Given the description of an element on the screen output the (x, y) to click on. 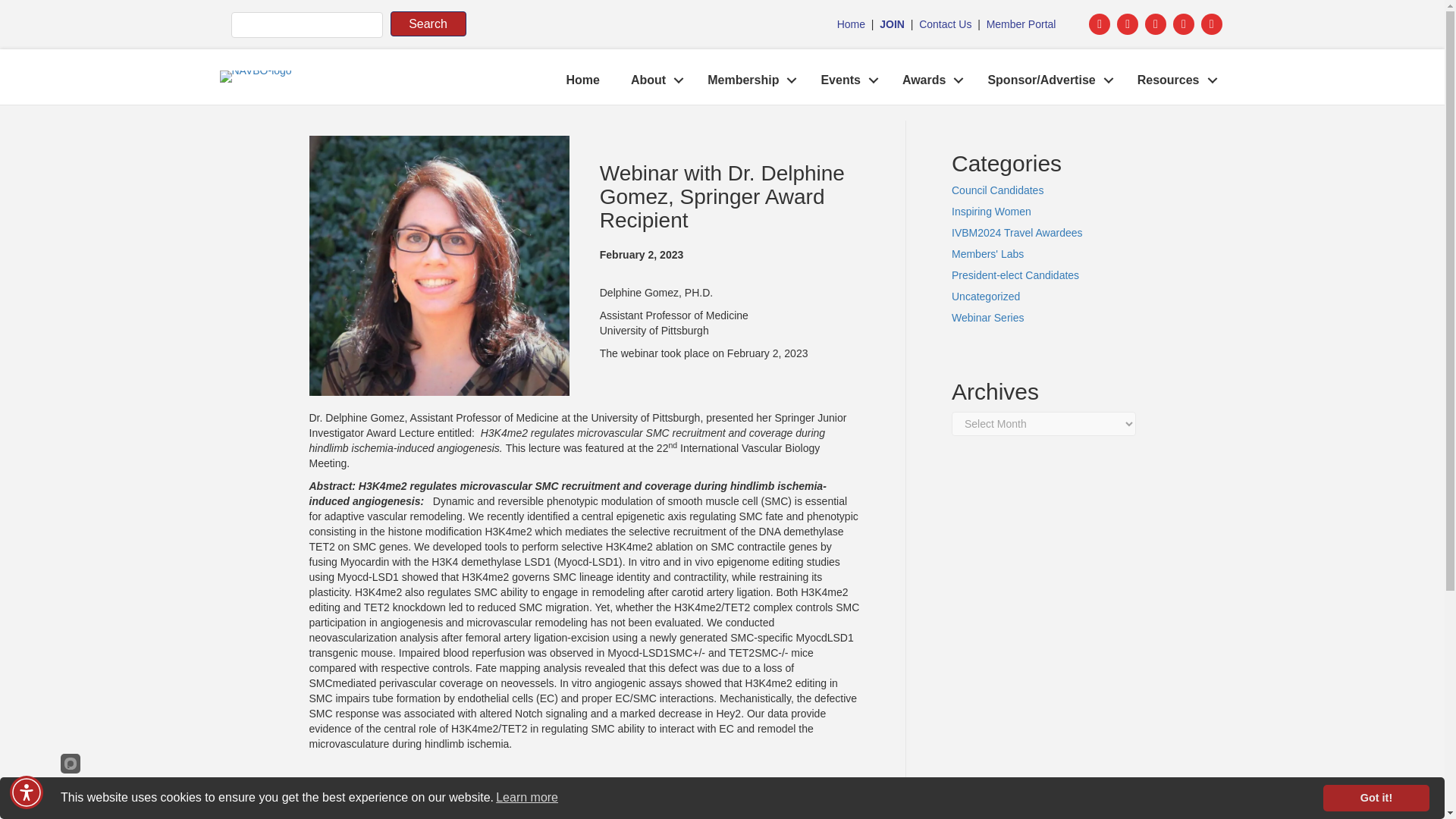
JOIN (891, 24)
Gomez (438, 265)
NAVBO-logo (255, 76)
Search (427, 23)
Accessibility Menu (26, 792)
About (653, 80)
Home (582, 80)
Contact Us (944, 24)
Events (845, 80)
Home (850, 24)
Search (427, 23)
Membership (749, 80)
Search (427, 23)
Member Portal (1022, 24)
